Given the description of an element on the screen output the (x, y) to click on. 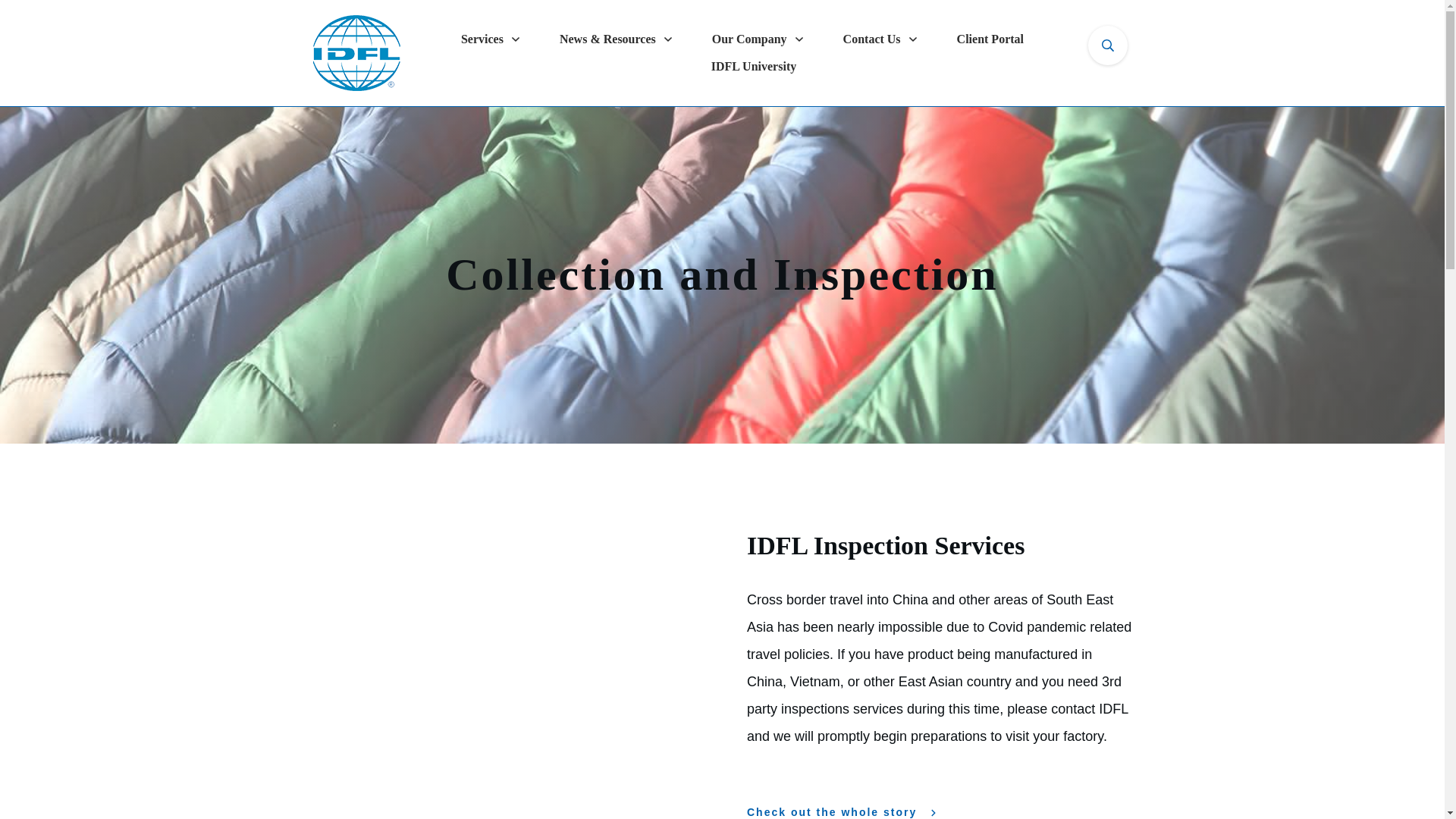
Our Company (758, 39)
Contact Us (880, 39)
Services (491, 39)
